Given the description of an element on the screen output the (x, y) to click on. 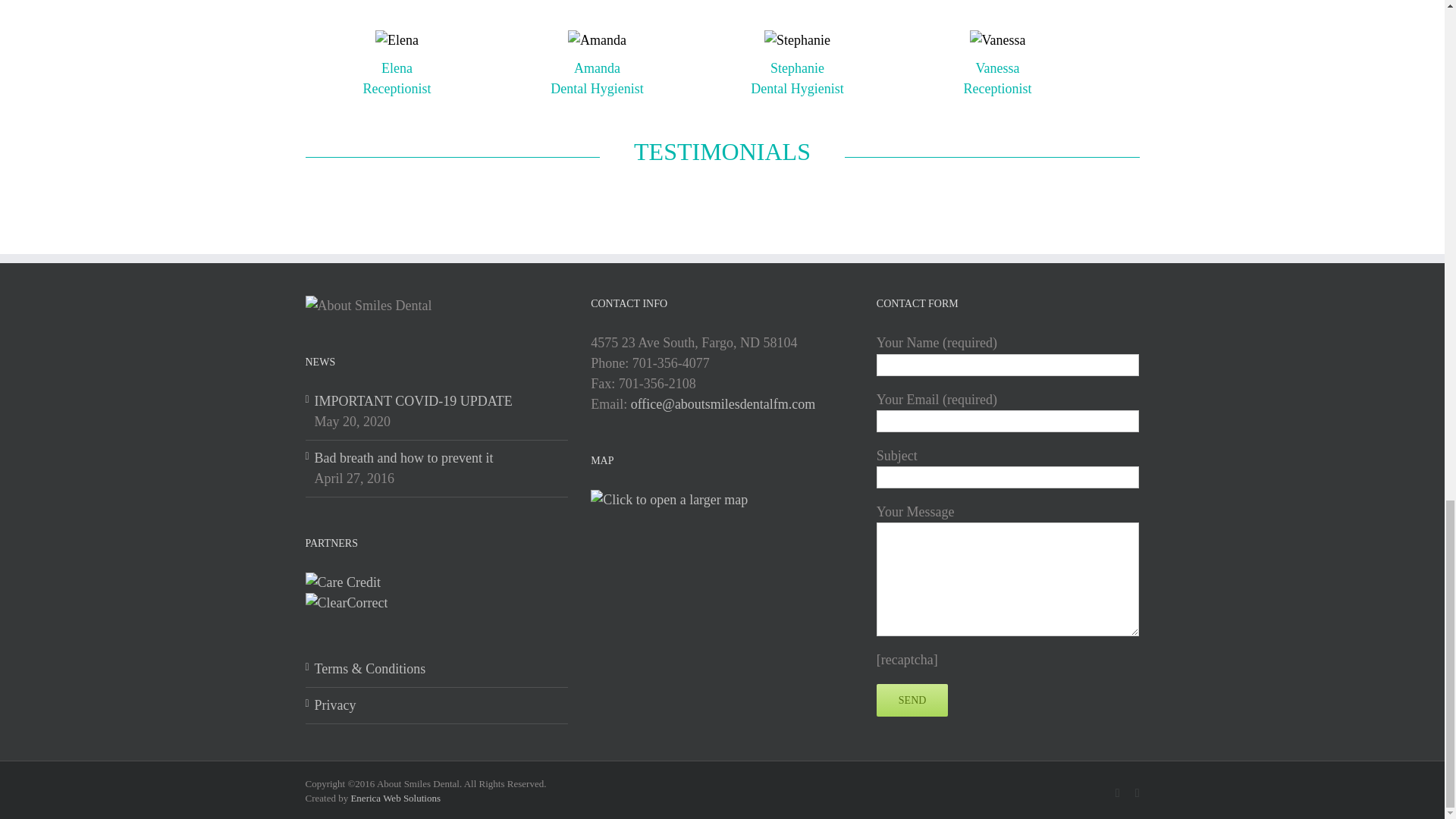
Send (912, 699)
Click to open a larger map (669, 499)
Click to open a larger map (669, 499)
